Given the description of an element on the screen output the (x, y) to click on. 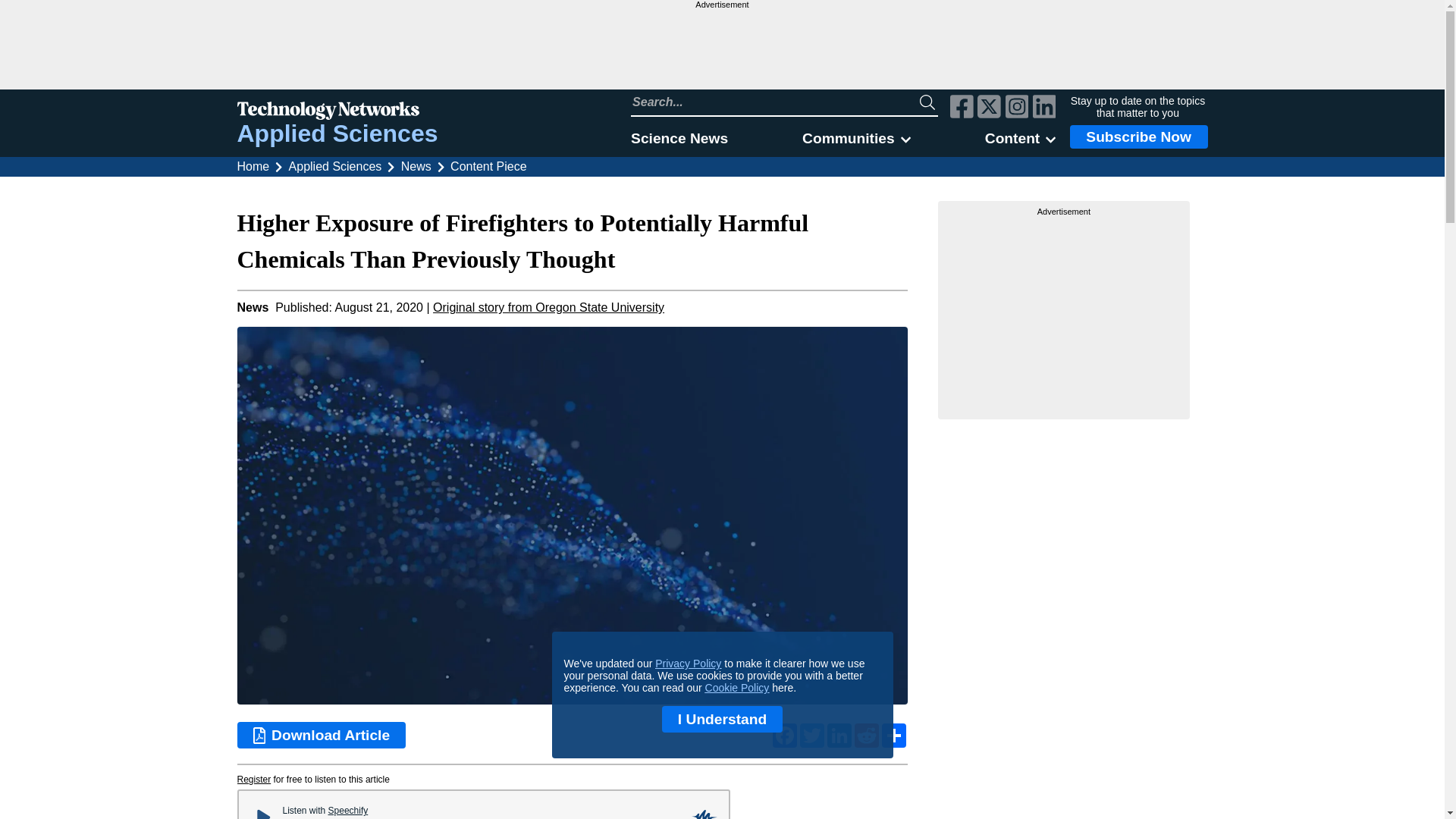
I Understand (722, 718)
3rd party ad content (721, 49)
Search Technology Networks website input field (775, 102)
3rd party ad content (1063, 312)
Click here to visit the original source for this content. (547, 307)
Cookie Policy (737, 687)
Technology Networks logo (336, 112)
Privacy Policy (687, 663)
